Given the description of an element on the screen output the (x, y) to click on. 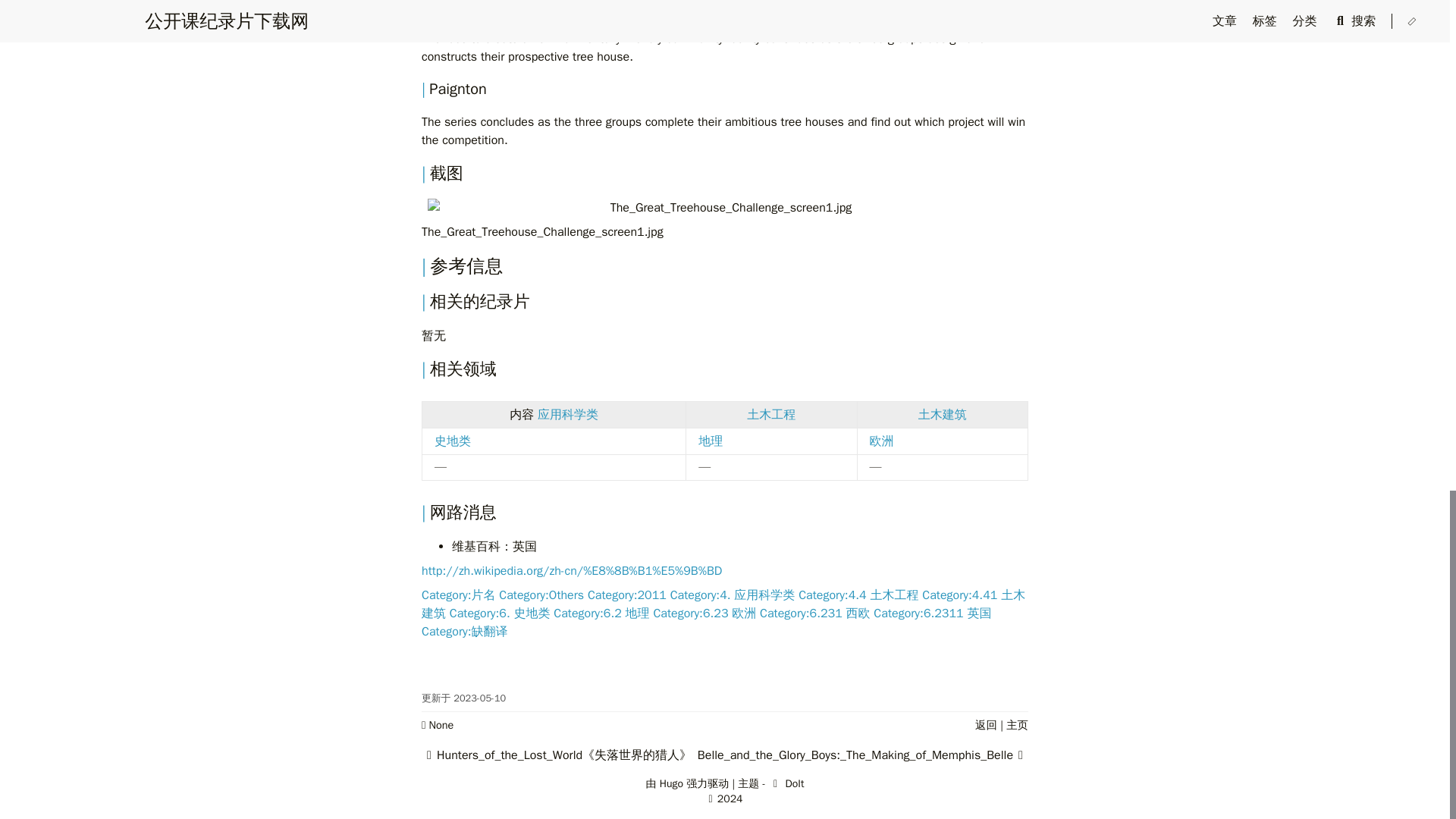
wikilink (770, 414)
wikilink (451, 441)
wikilink (567, 414)
wikilink (710, 441)
wikilink (942, 414)
